Given the description of an element on the screen output the (x, y) to click on. 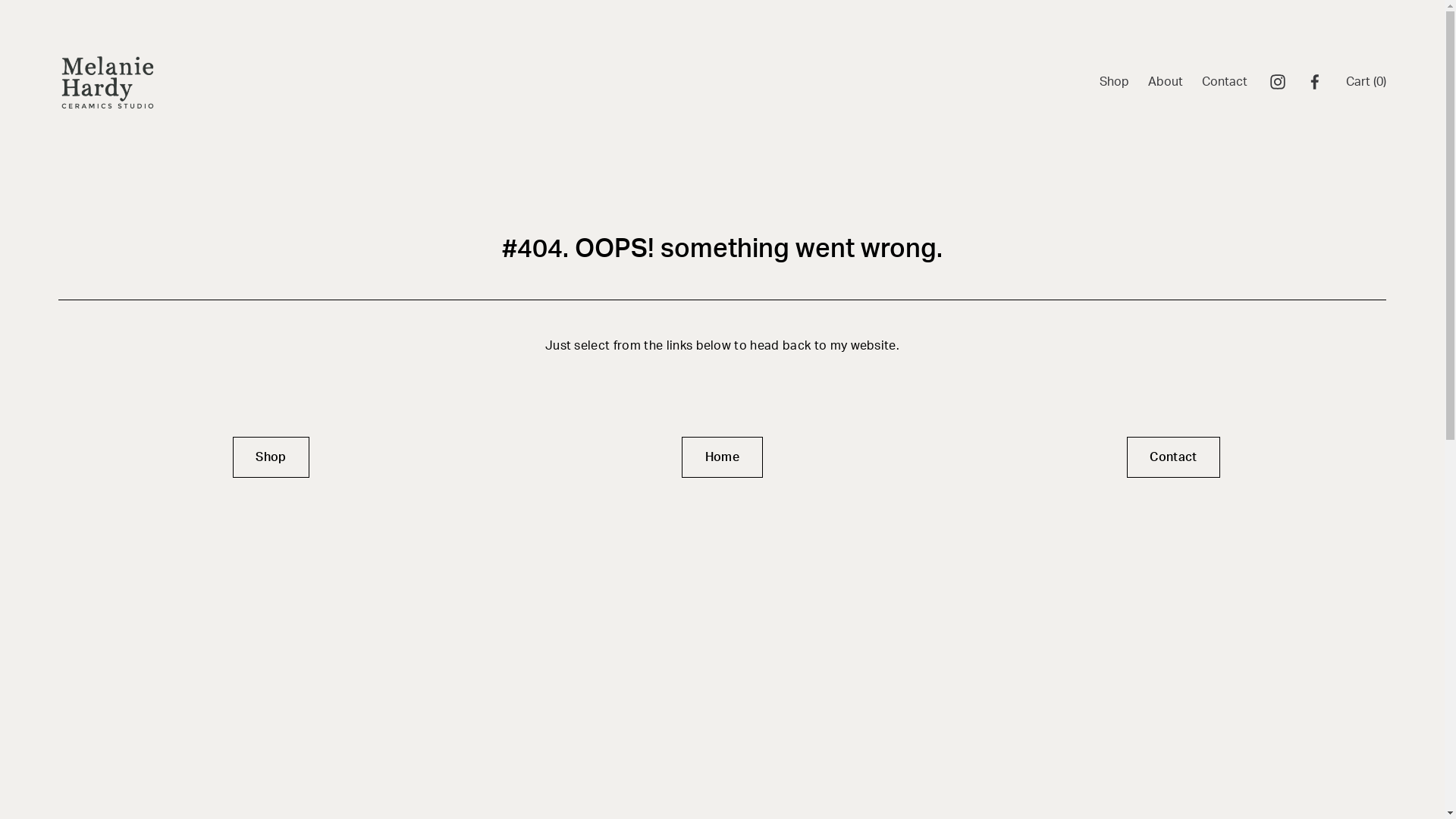
Shop Element type: text (270, 456)
Contact Element type: text (1224, 81)
Home Element type: text (721, 456)
Contact Element type: text (1173, 456)
About Element type: text (1165, 81)
Shop Element type: text (1114, 81)
Cart (0) Element type: text (1366, 82)
